Given the description of an element on the screen output the (x, y) to click on. 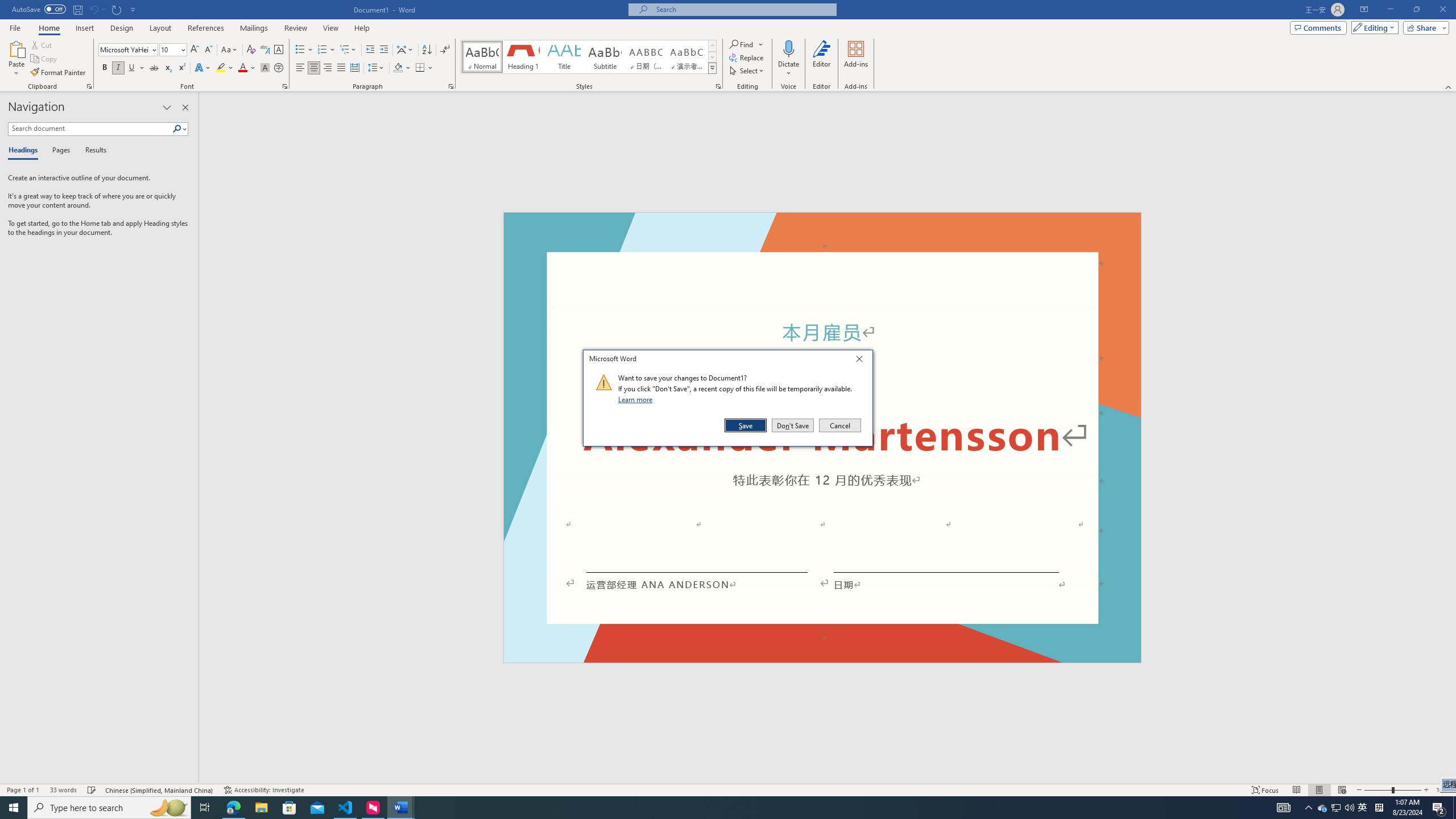
Visual Studio Code - 1 running window (345, 807)
Page Number Page 1 of 1 (22, 790)
Search highlights icon opens search home window (167, 807)
